Given the description of an element on the screen output the (x, y) to click on. 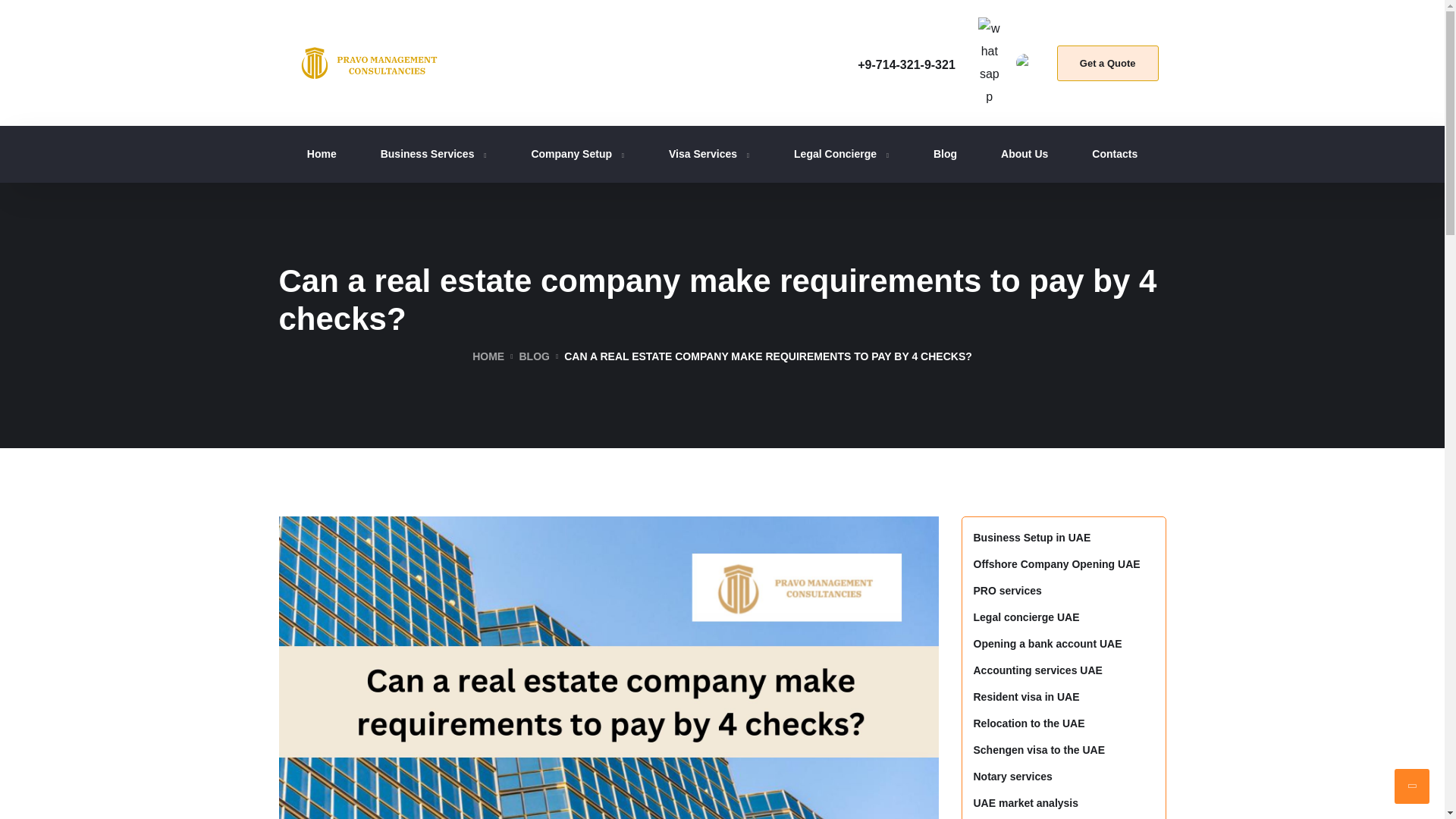
Visa Services (708, 154)
Legal Concierge (841, 154)
Company Setup (577, 154)
Contacts (1114, 154)
About Us (1024, 154)
Business Services (433, 154)
Get a Quote (1107, 63)
